Given the description of an element on the screen output the (x, y) to click on. 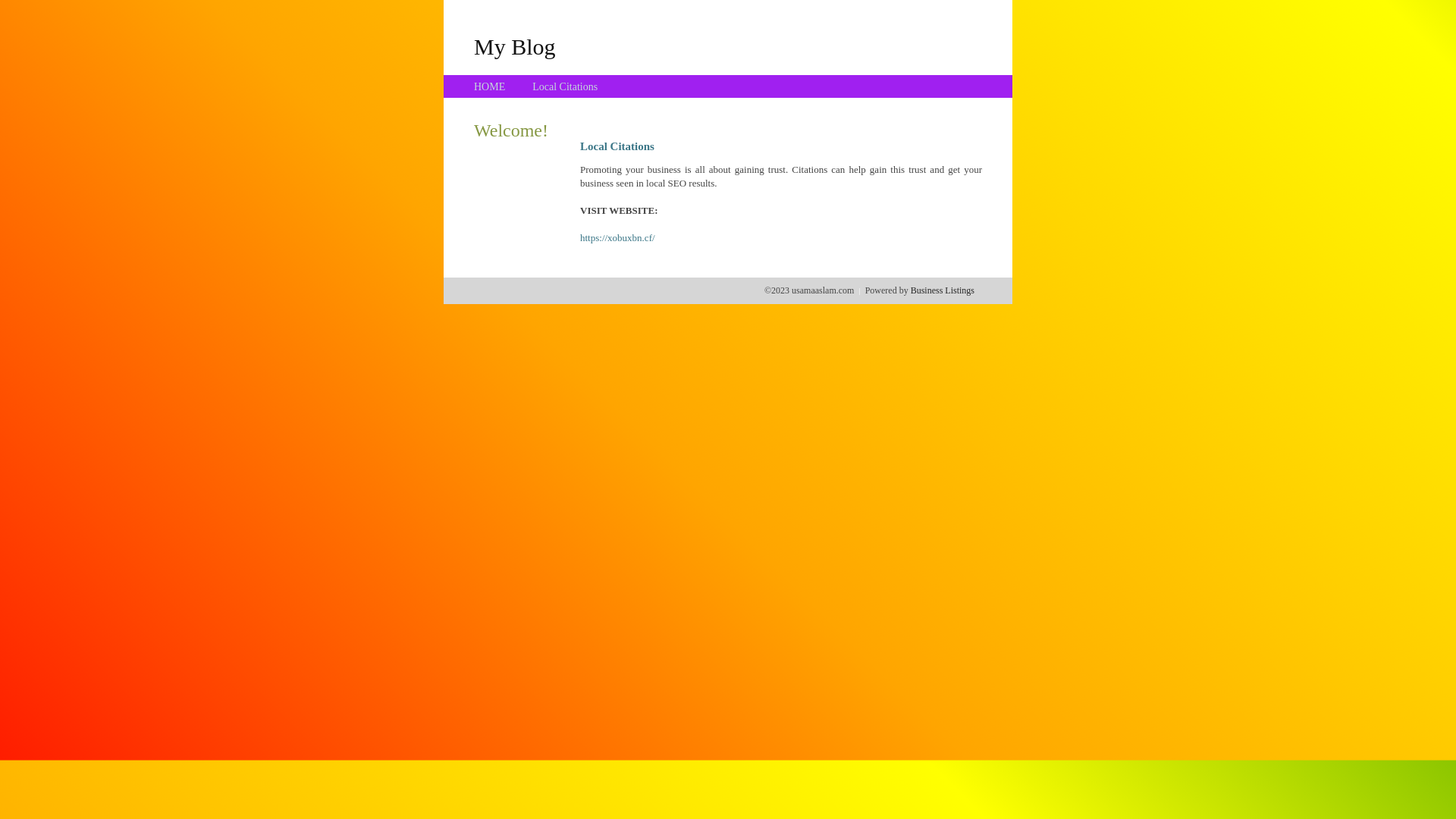
My Blog Element type: text (514, 46)
Local Citations Element type: text (564, 86)
HOME Element type: text (489, 86)
Business Listings Element type: text (942, 290)
https://xobuxbn.cf/ Element type: text (617, 237)
